Given the description of an element on the screen output the (x, y) to click on. 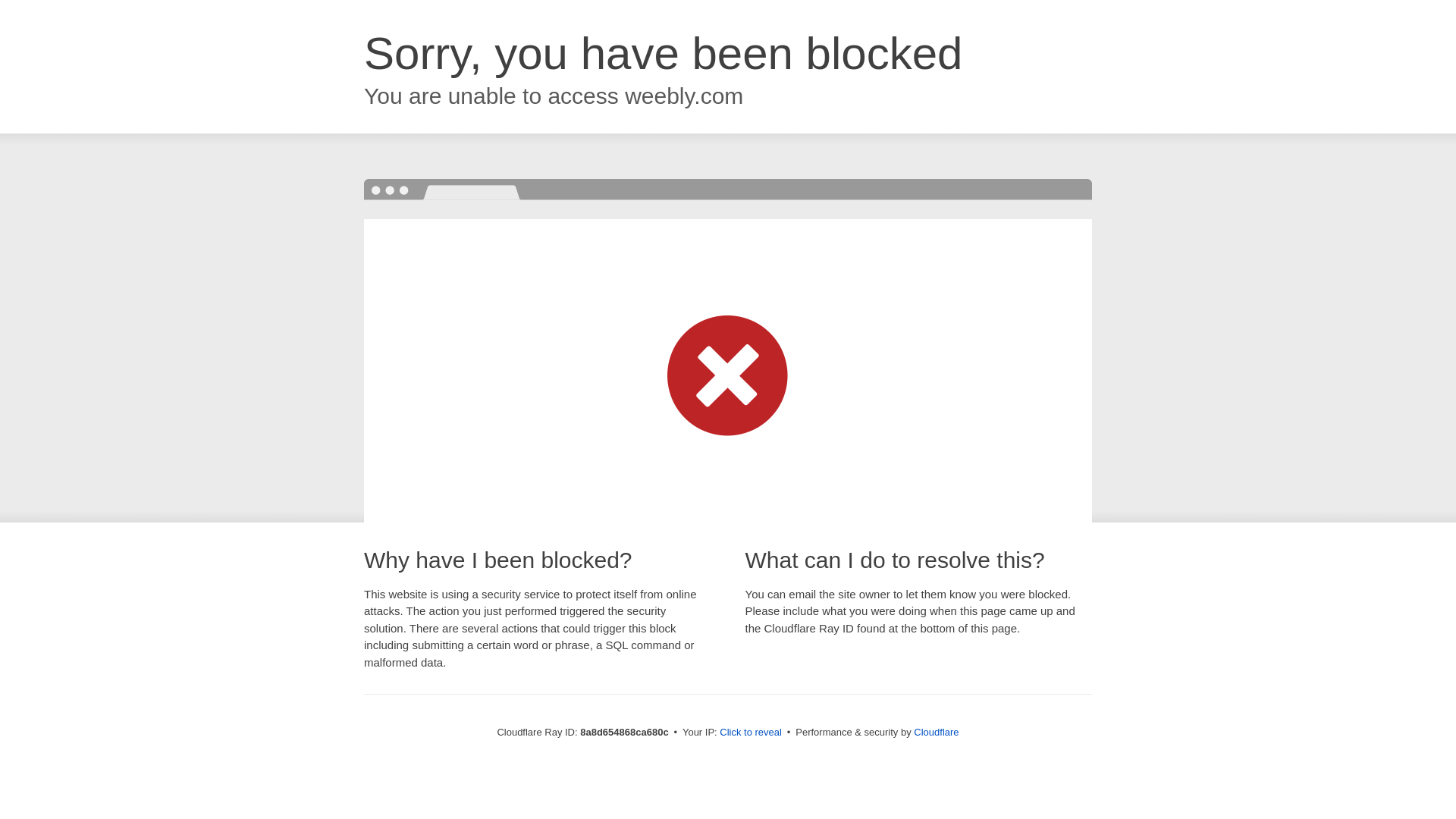
Click to reveal (750, 732)
Cloudflare (936, 731)
